Given the description of an element on the screen output the (x, y) to click on. 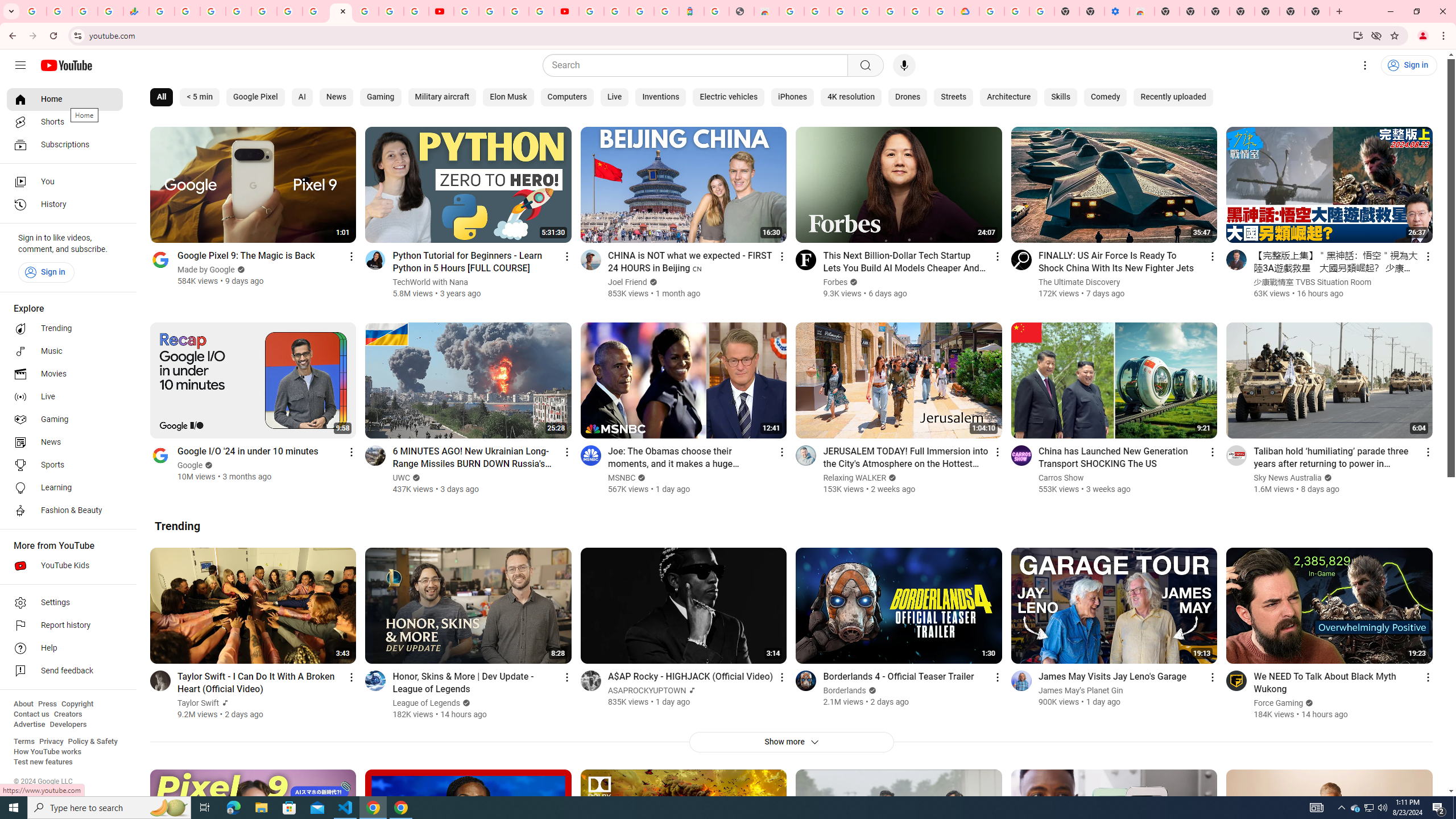
Go to channel (1236, 680)
Send feedback (64, 671)
New Tab (1166, 11)
Gaming (64, 419)
< 5 min (199, 97)
League of Legends (427, 702)
Policy & Safety (91, 741)
AI (302, 97)
Action menu (1427, 676)
